Given the description of an element on the screen output the (x, y) to click on. 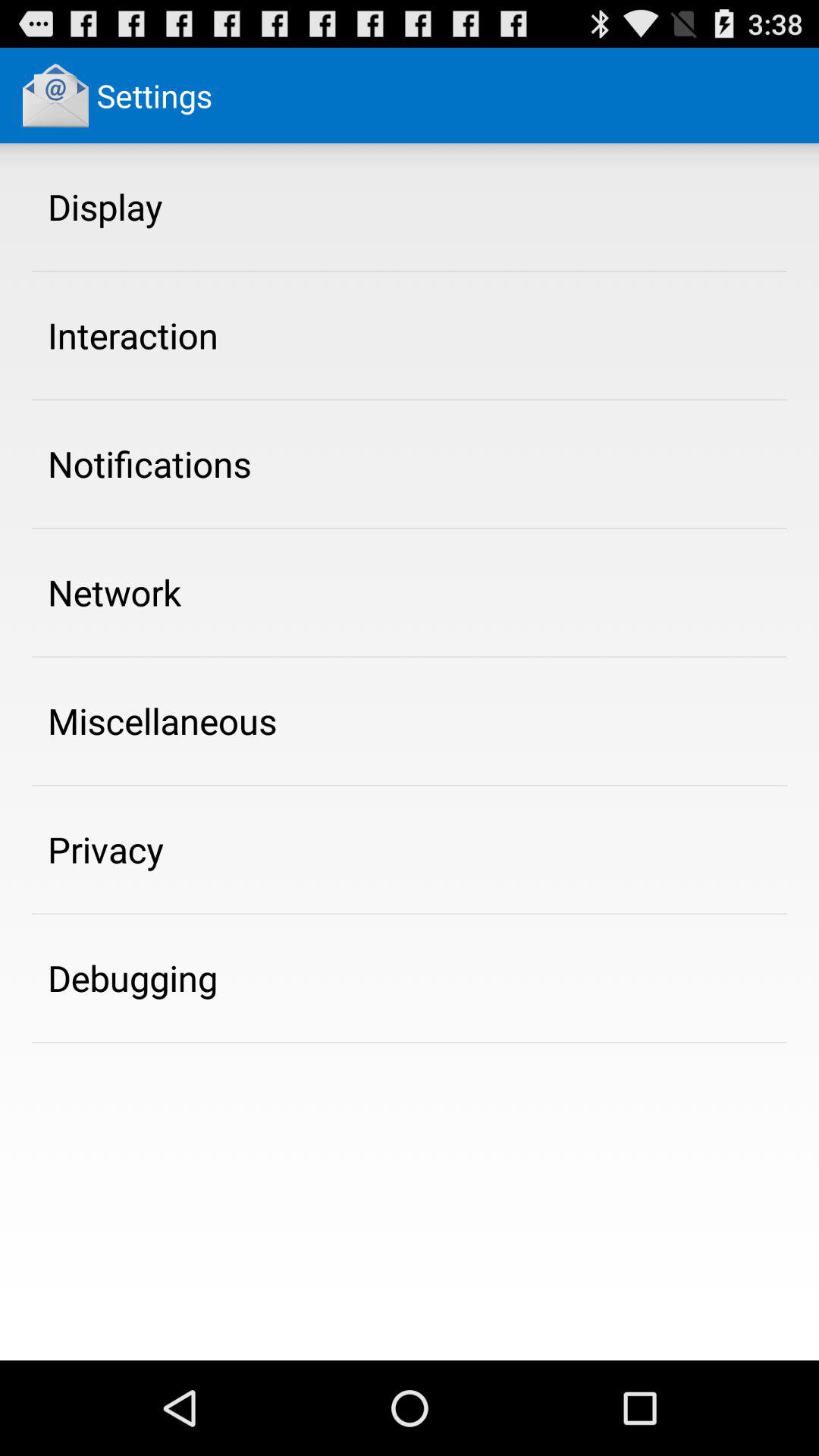
choose app above the network (149, 463)
